Given the description of an element on the screen output the (x, y) to click on. 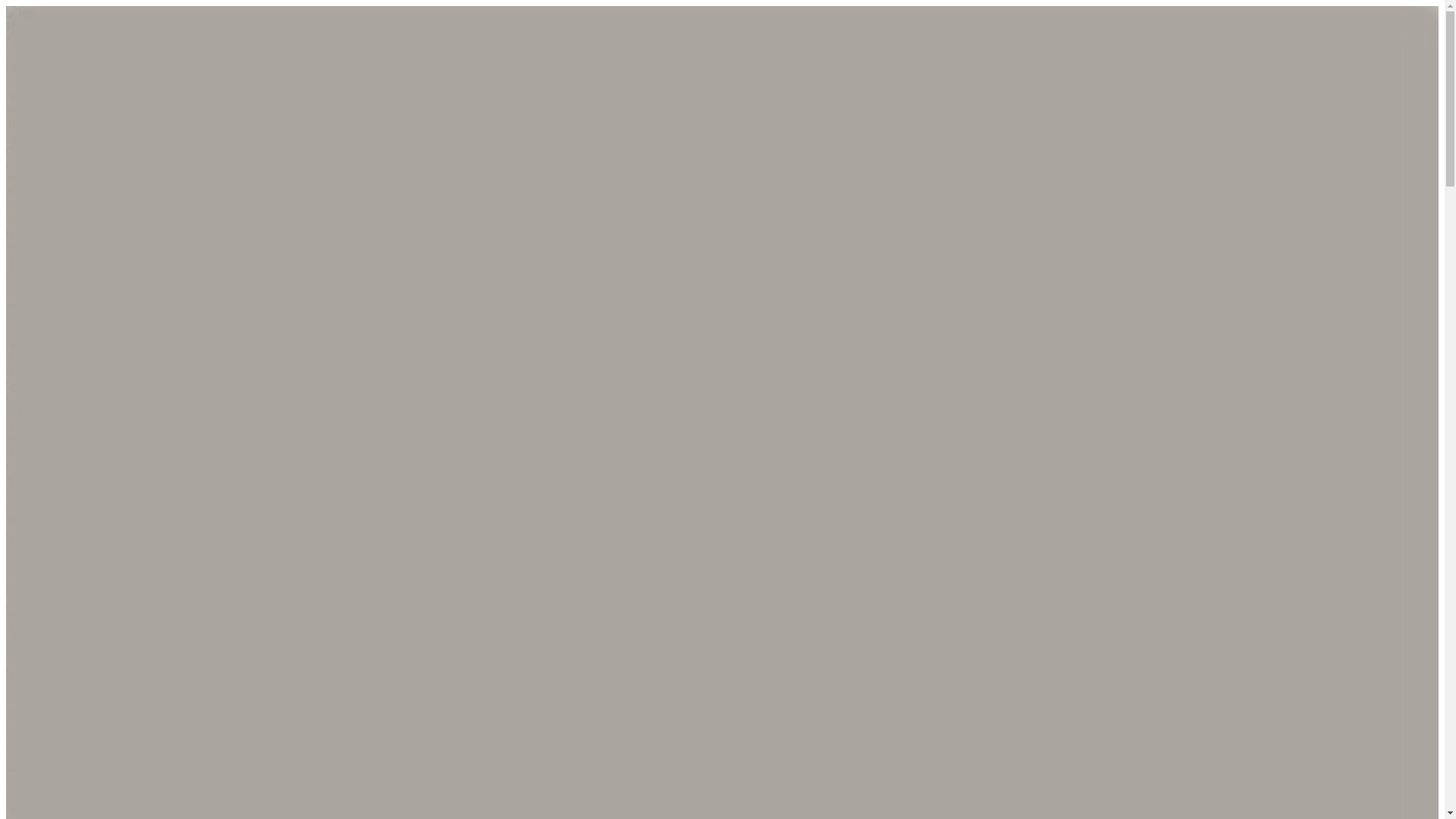
Eiffel Tower Tickets (54, 246)
Rodin Museum Ticket (60, 451)
Les Invalides Tickets (57, 546)
Mont Saint Michel Abbey Tickets (87, 341)
Aquaboulevard Water Park Tickets (90, 628)
Musee D Orsay And Louvre Tickets (93, 738)
Sainte Chapelle And Conciergerie Tickets (107, 724)
Parc Asterix Tickets (54, 587)
Contact Us (33, 232)
Walking Tours in Paris (60, 710)
Eiffel Tower With Seine River Cruise (96, 751)
Picasso National Museum Tickets (87, 505)
Chapelle Expiatoire Ticket (70, 396)
Musee Jacquemart Andre Tickets Paris (100, 492)
Jardin D'acclimatation Tickets (78, 601)
